Given the description of an element on the screen output the (x, y) to click on. 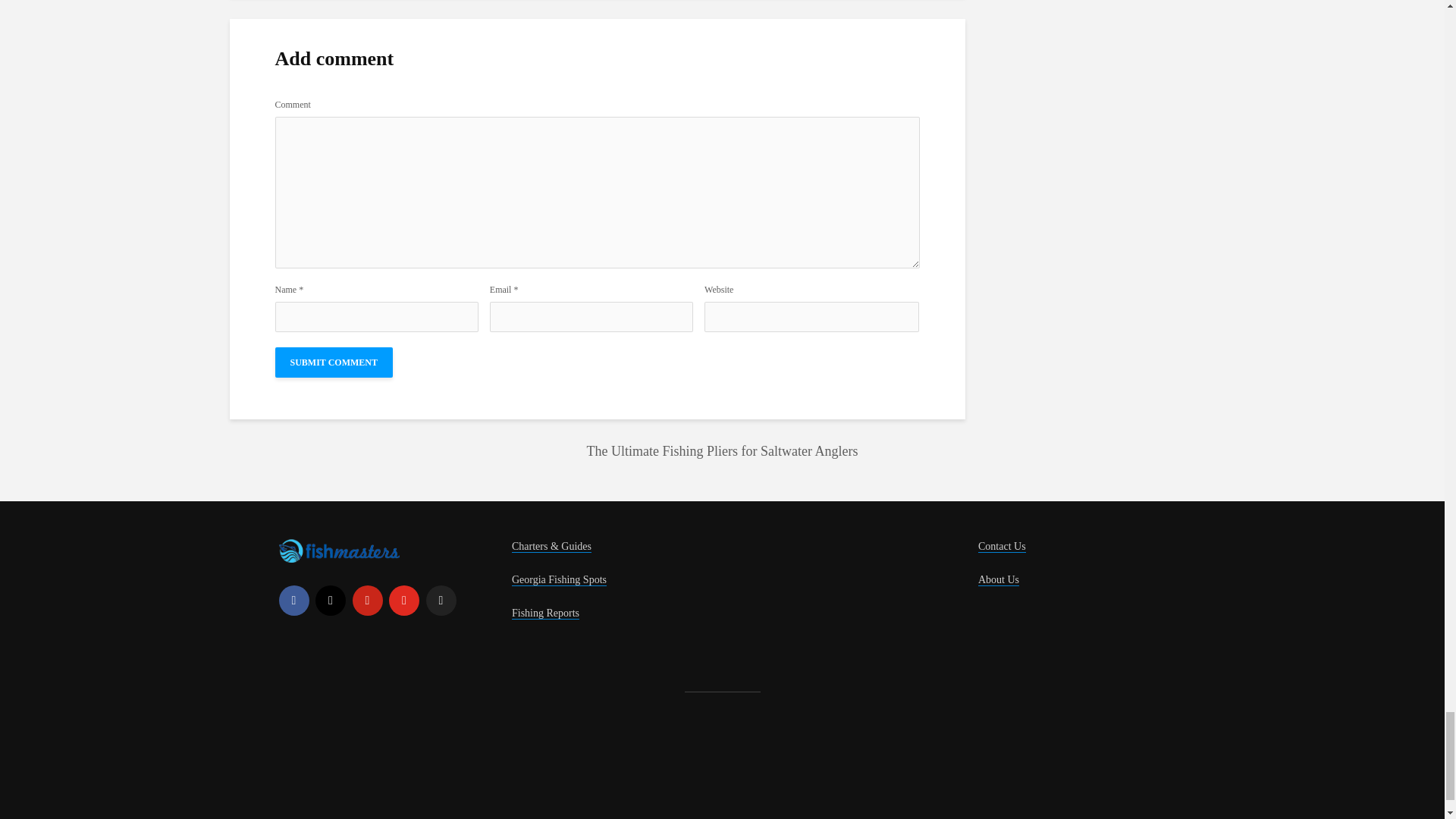
Facebook (293, 600)
YouTube (403, 600)
Instagram (330, 600)
Pinterest (366, 600)
Submit Comment (333, 362)
DMCA.com Protection Status (392, 774)
